Given the description of an element on the screen output the (x, y) to click on. 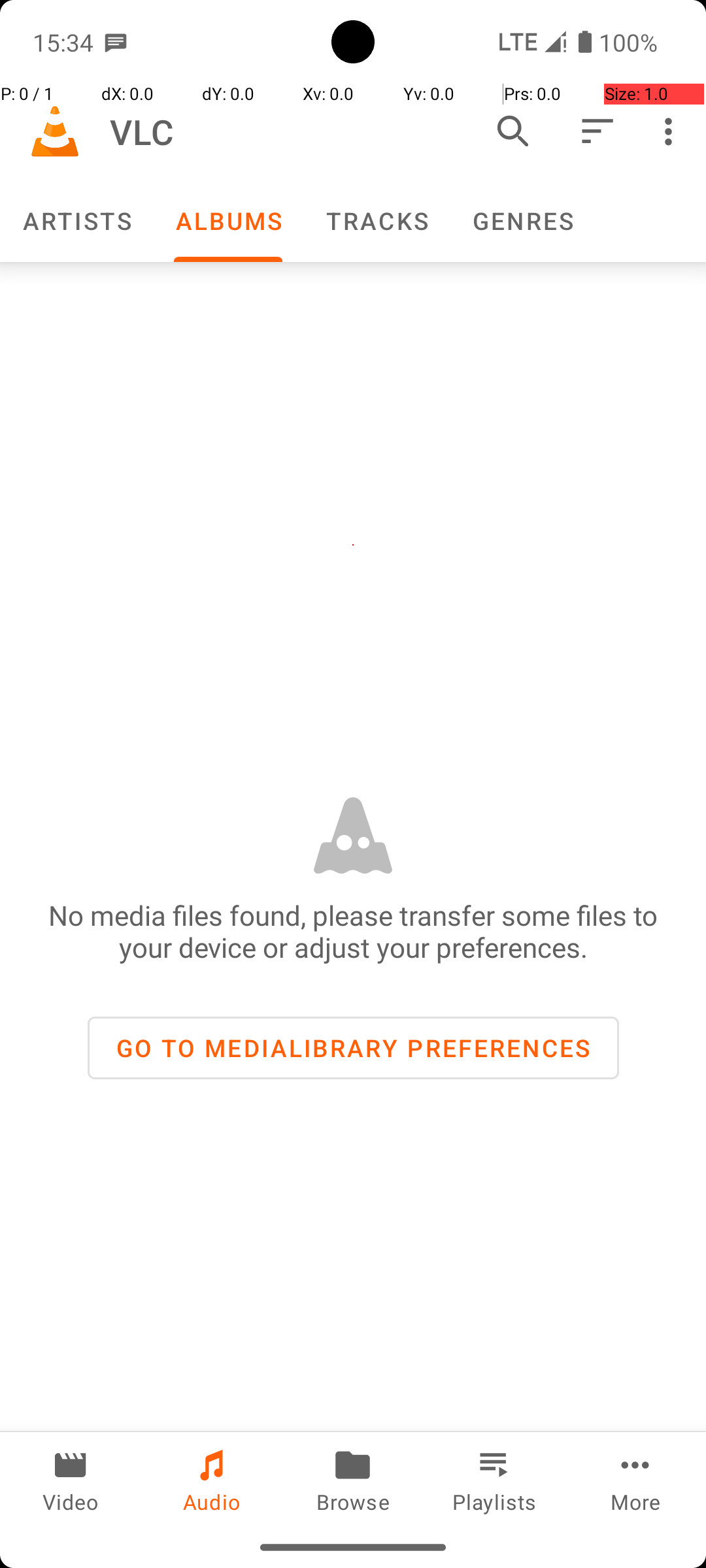
No media files found, please transfer some files to your device or adjust your preferences. Element type: android.widget.TextView (352, 930)
GO TO MEDIALIBRARY PREFERENCES Element type: android.widget.Button (353, 1047)
